Given the description of an element on the screen output the (x, y) to click on. 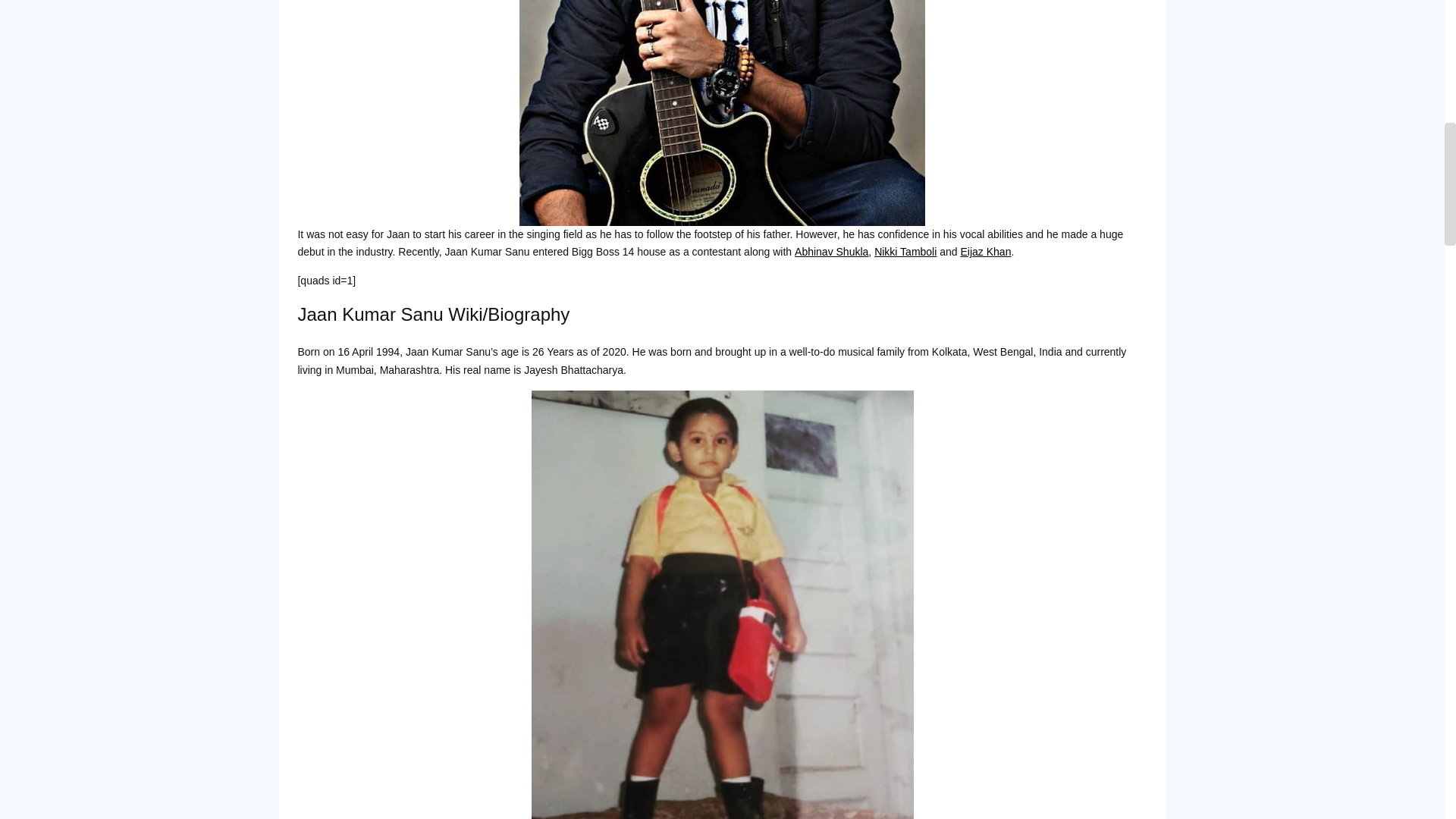
Abhinav Shukla (830, 251)
Nikki Tamboli (905, 251)
Eijaz Khan (984, 251)
